Given the description of an element on the screen output the (x, y) to click on. 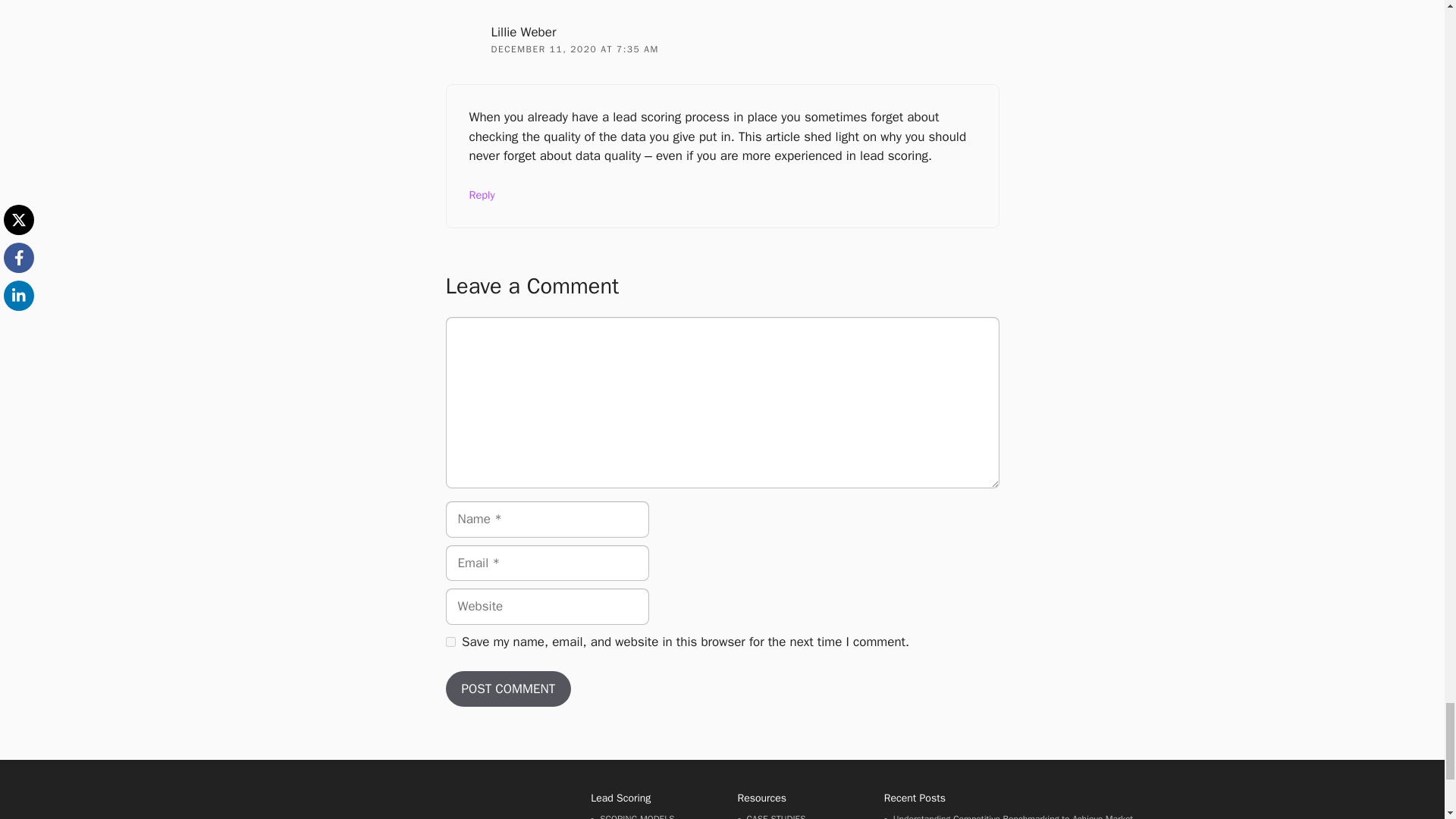
Post Comment (508, 688)
yes (450, 642)
